Given the description of an element on the screen output the (x, y) to click on. 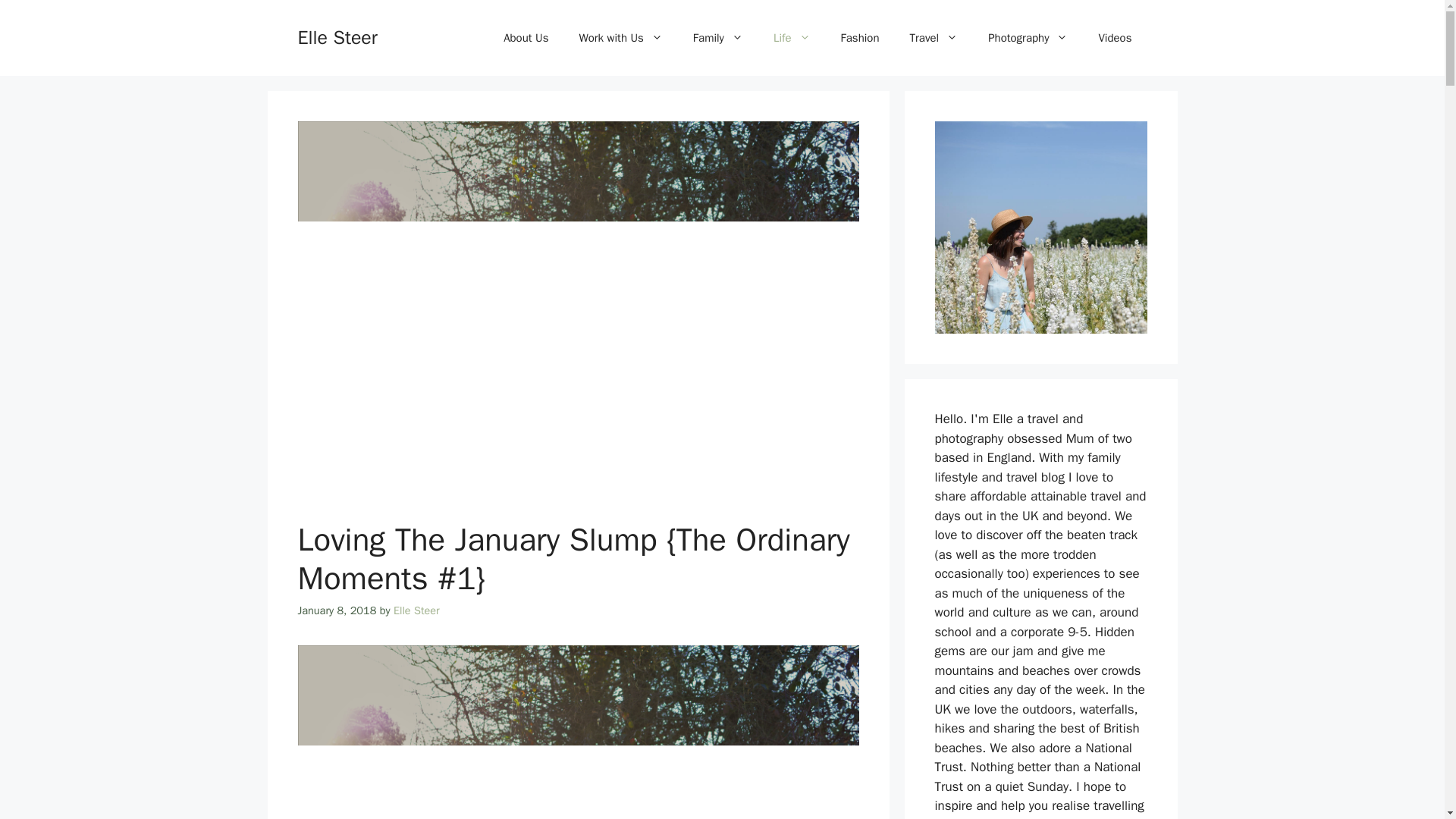
Work with Us (620, 37)
About Us (525, 37)
Elle Steer (416, 610)
Life (791, 37)
Photography (1027, 37)
Travel (934, 37)
Family (718, 37)
Videos (1115, 37)
View all posts by Elle Steer (416, 610)
Elle Steer (337, 37)
